Given the description of an element on the screen output the (x, y) to click on. 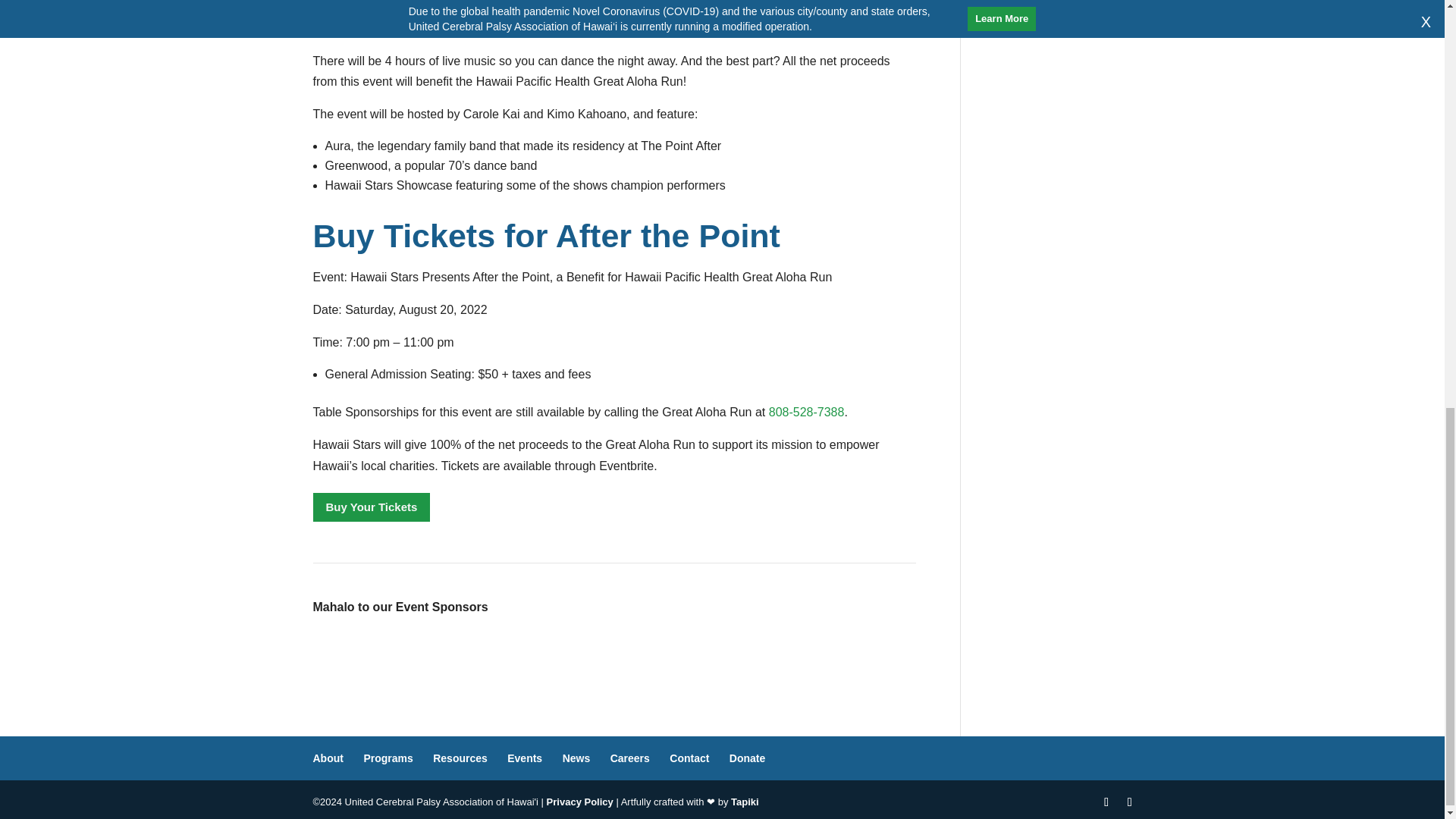
808-528-7388 (806, 411)
Buy Your Tickets (371, 507)
